Given the description of an element on the screen output the (x, y) to click on. 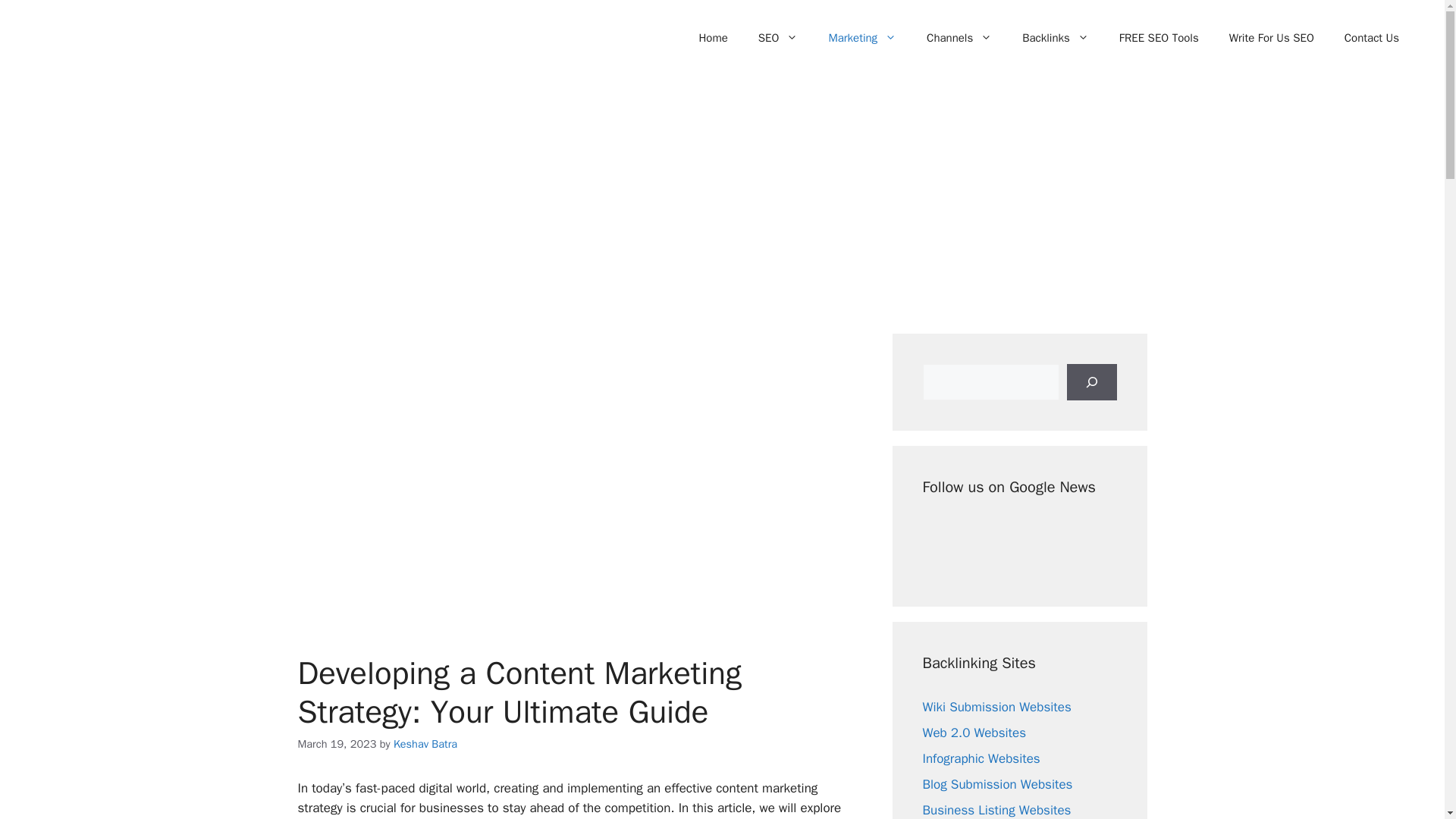
Channels (959, 37)
View all posts by Keshav Batra (425, 744)
Marketing (861, 37)
Backlinks (1055, 37)
Home (712, 37)
SEO (777, 37)
